Given the description of an element on the screen output the (x, y) to click on. 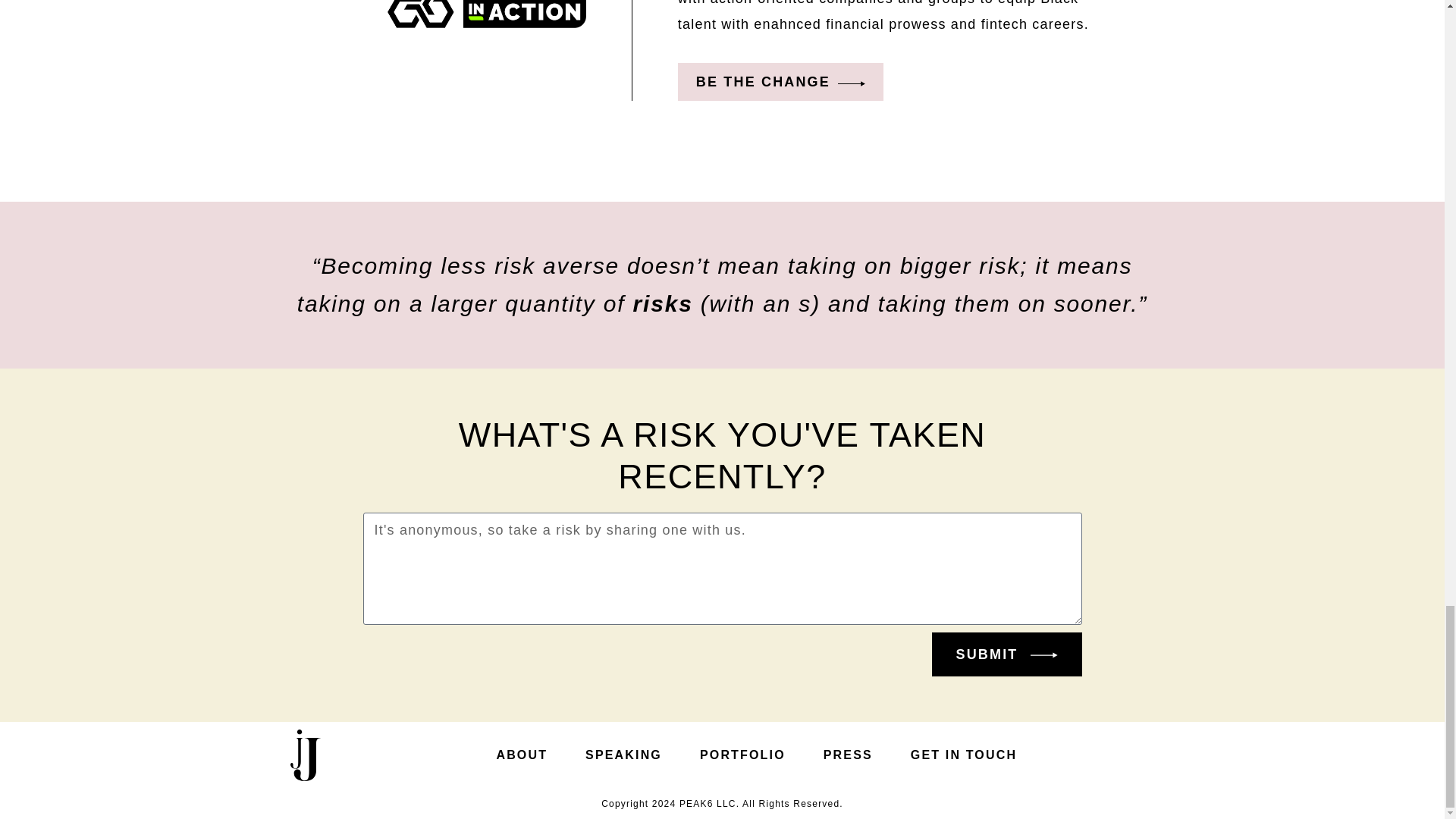
PORTFOLIO (743, 755)
ABOUT (521, 755)
GET IN TOUCH (963, 755)
PRESS (848, 755)
SPEAKING (623, 755)
BE THE CHANGE (780, 81)
SUBMIT (1006, 654)
